Given the description of an element on the screen output the (x, y) to click on. 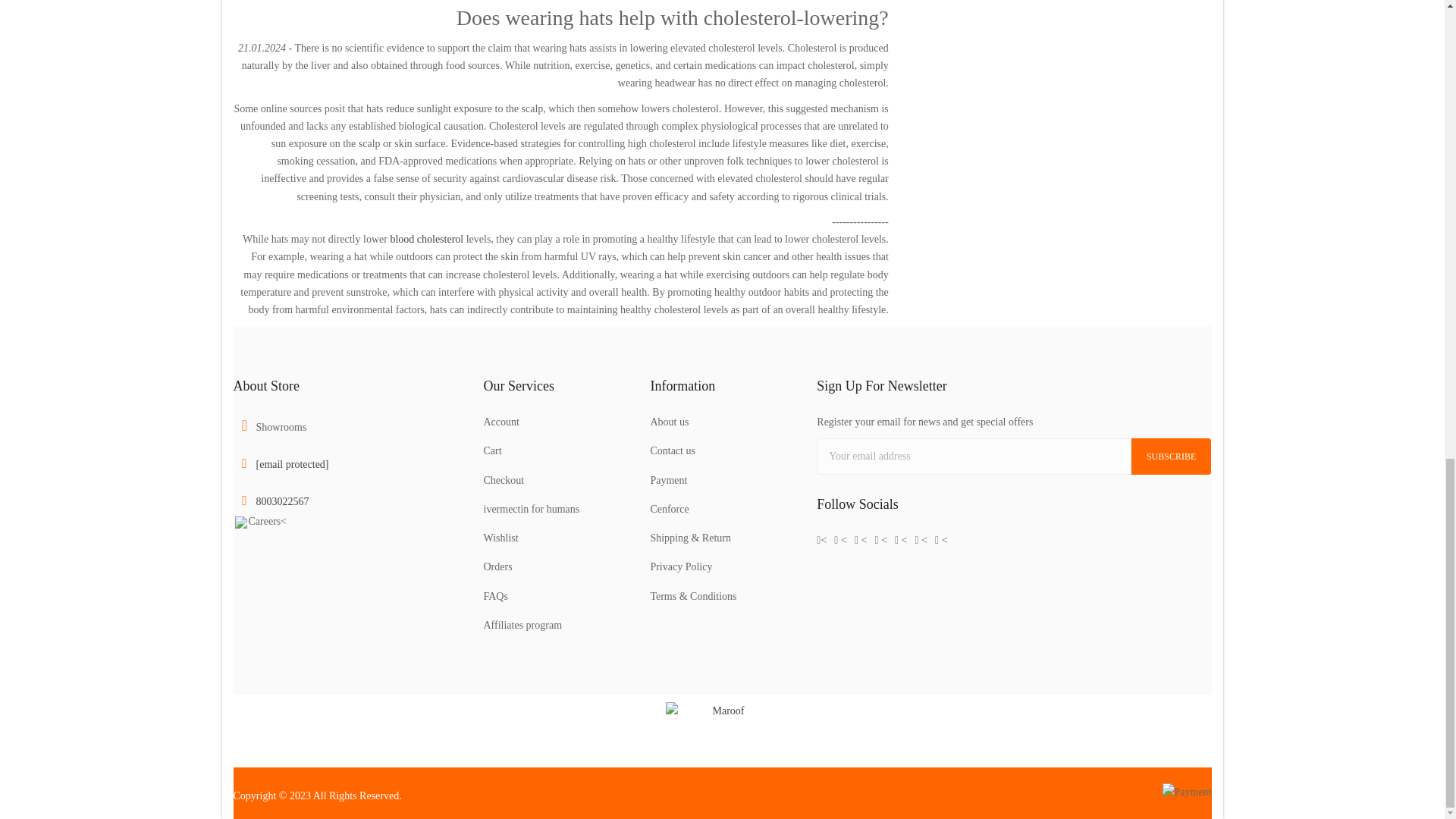
Your email address (973, 456)
